Given the description of an element on the screen output the (x, y) to click on. 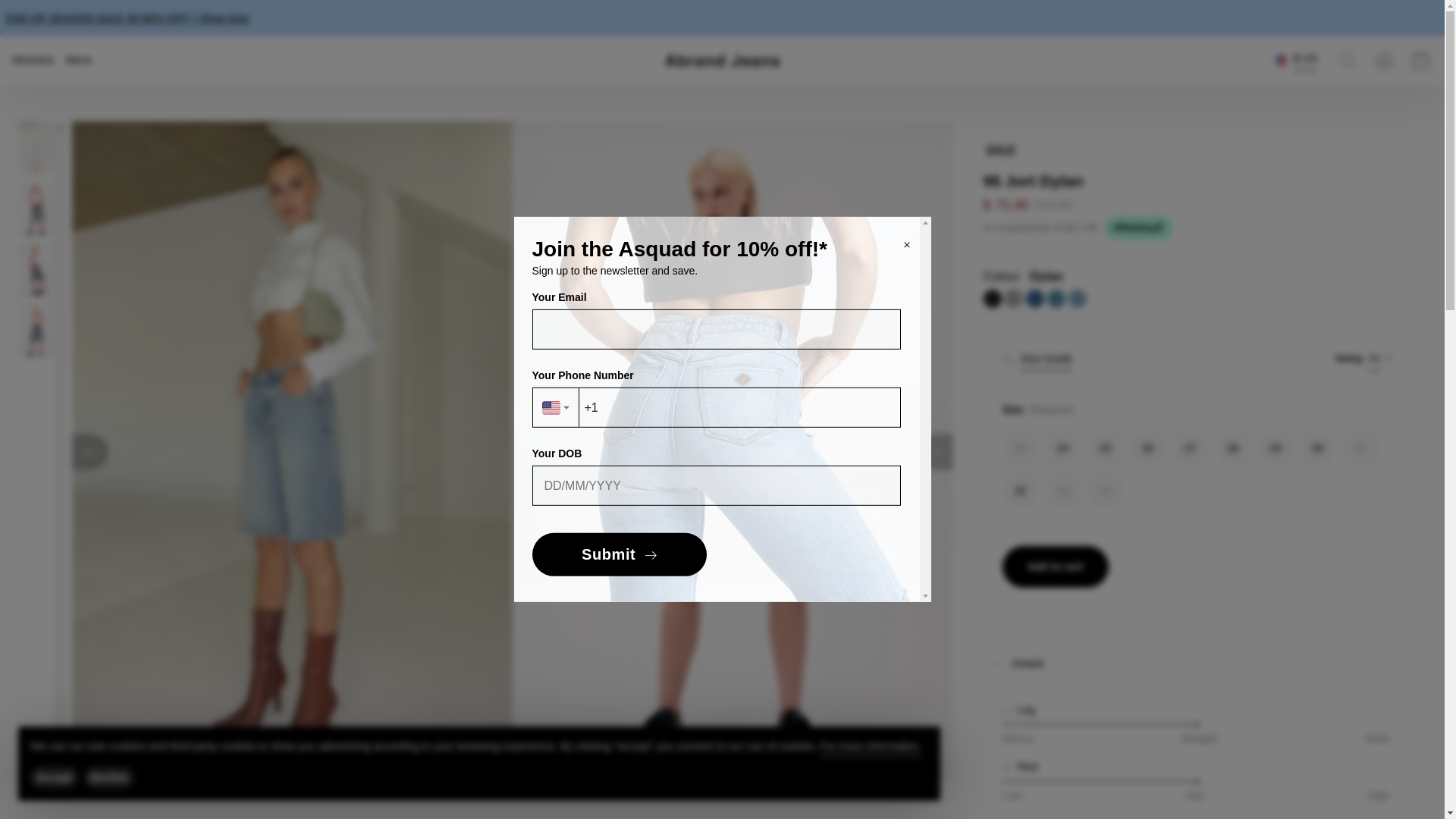
Womens (32, 59)
